Given the description of an element on the screen output the (x, y) to click on. 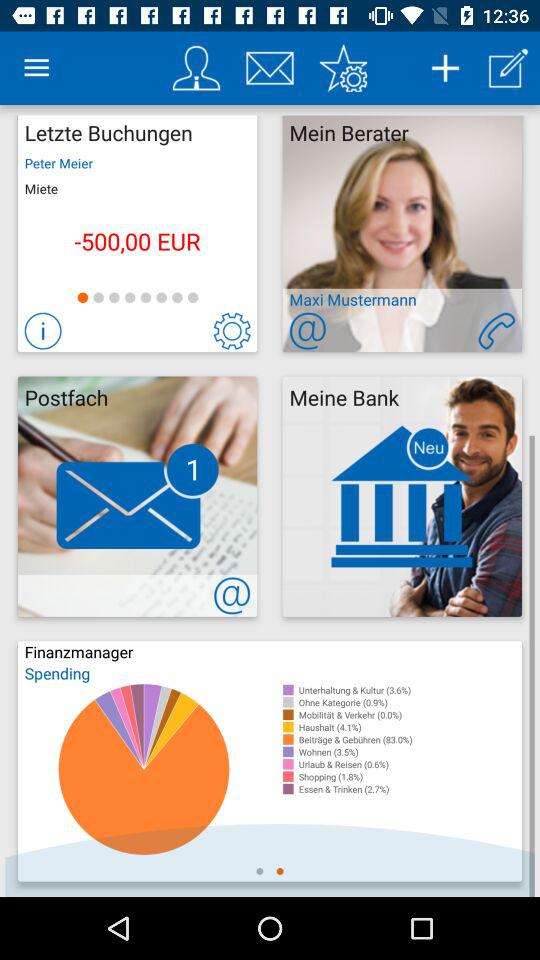
button of email (307, 330)
